Given the description of an element on the screen output the (x, y) to click on. 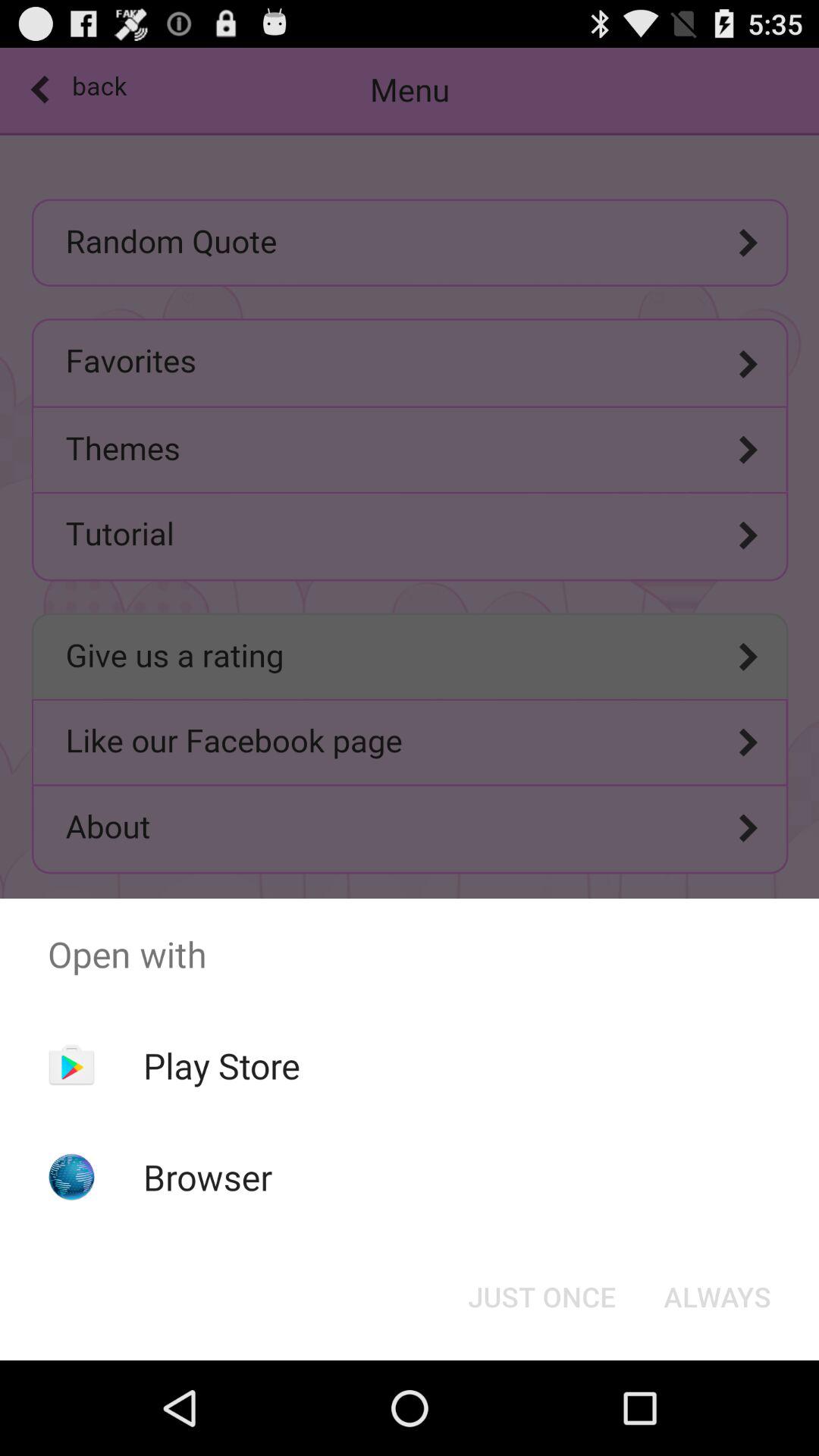
launch always icon (717, 1296)
